Given the description of an element on the screen output the (x, y) to click on. 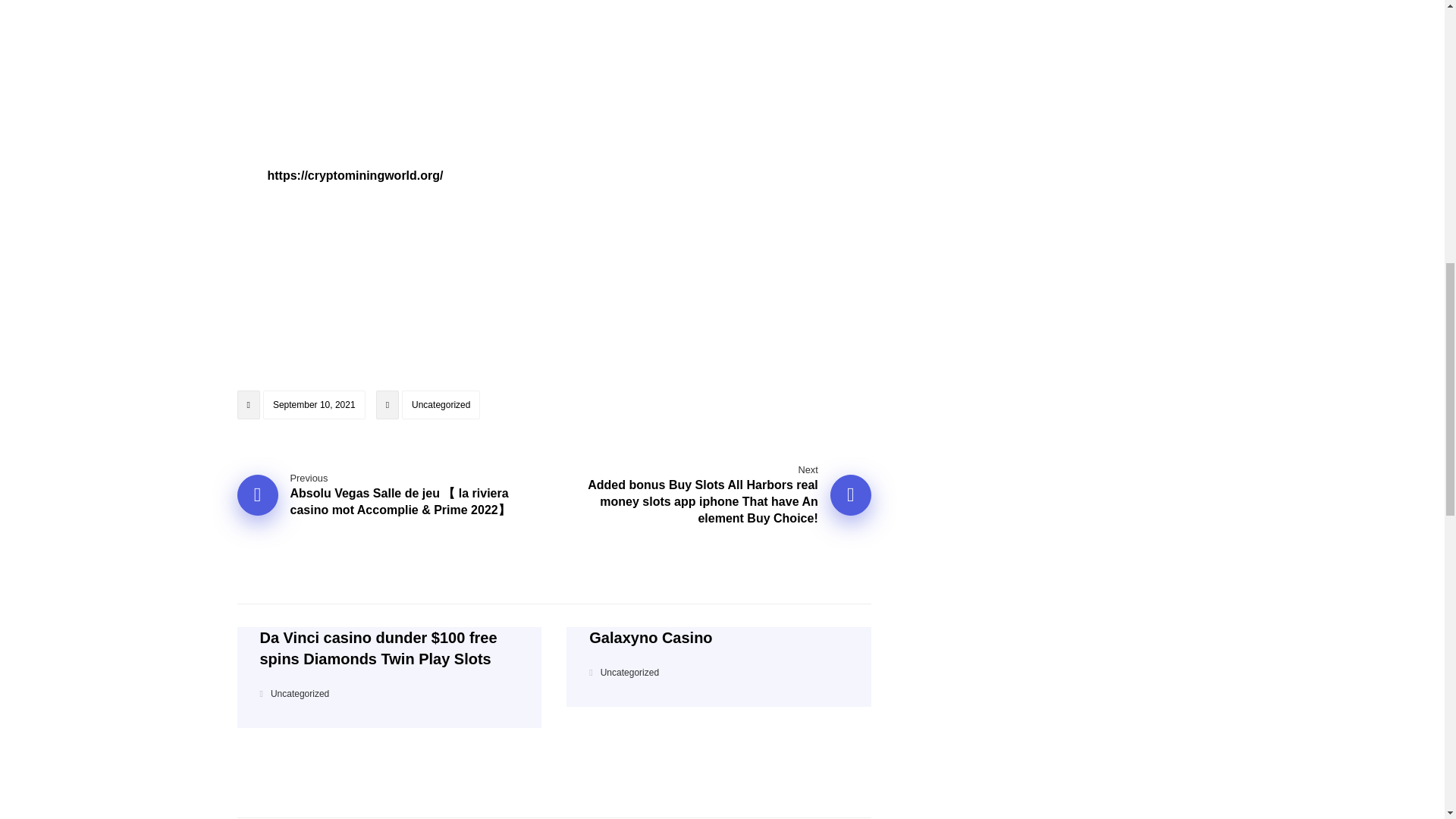
September 10, 2021 (314, 404)
Uncategorized (629, 672)
Uncategorized (440, 404)
Published on (301, 408)
Galaxyno Casino (718, 637)
Uncategorized (299, 693)
